Given the description of an element on the screen output the (x, y) to click on. 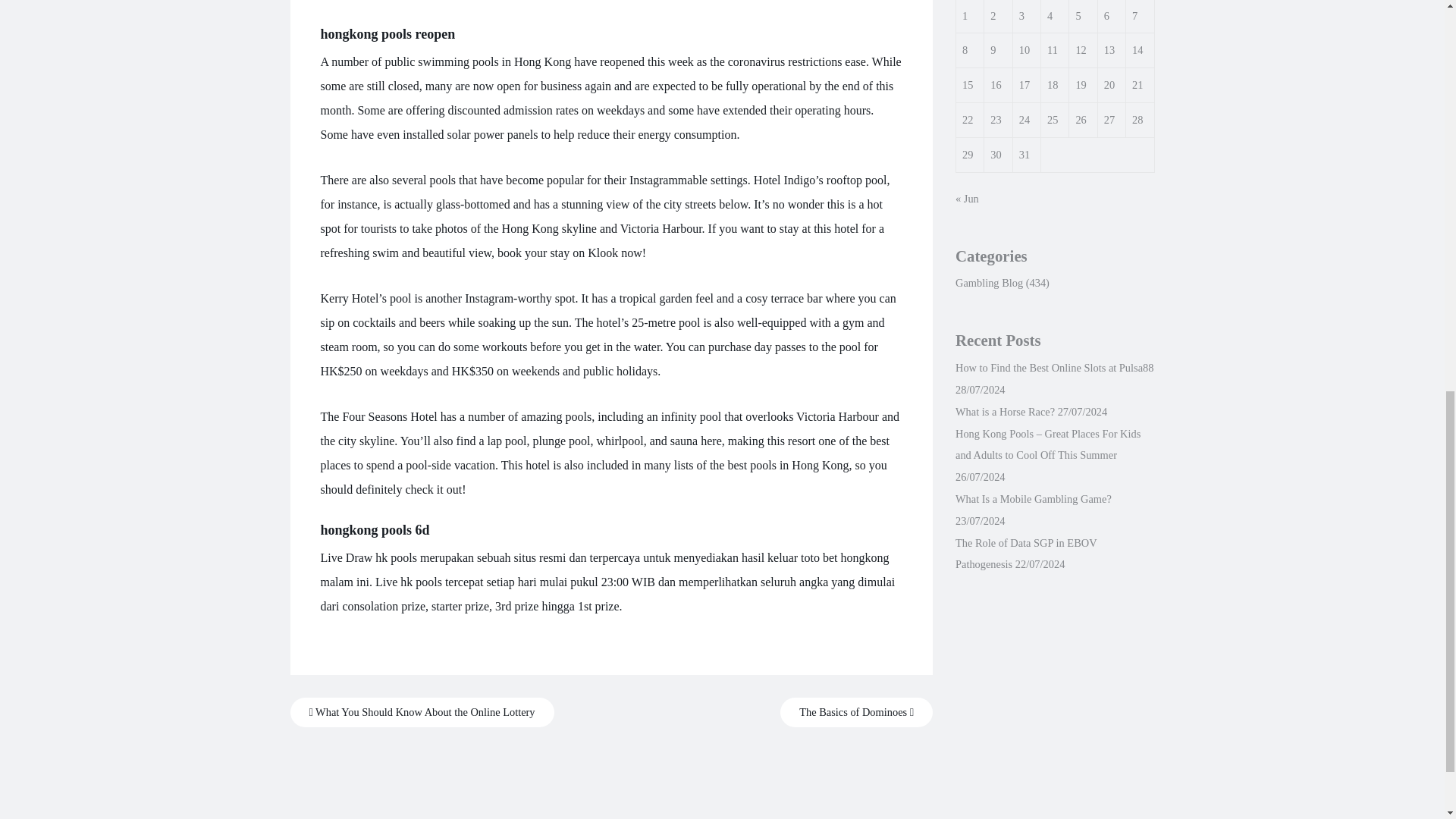
What You Should Know About the Online Lottery (421, 712)
1 (965, 15)
The Basics of Dominoes (856, 712)
11 (1052, 50)
10 (1024, 50)
2 (992, 15)
20 (1109, 84)
5 (1077, 15)
19 (1080, 84)
15 (967, 84)
3 (1022, 15)
9 (992, 50)
13 (1109, 50)
7 (1134, 15)
6 (1106, 15)
